Given the description of an element on the screen output the (x, y) to click on. 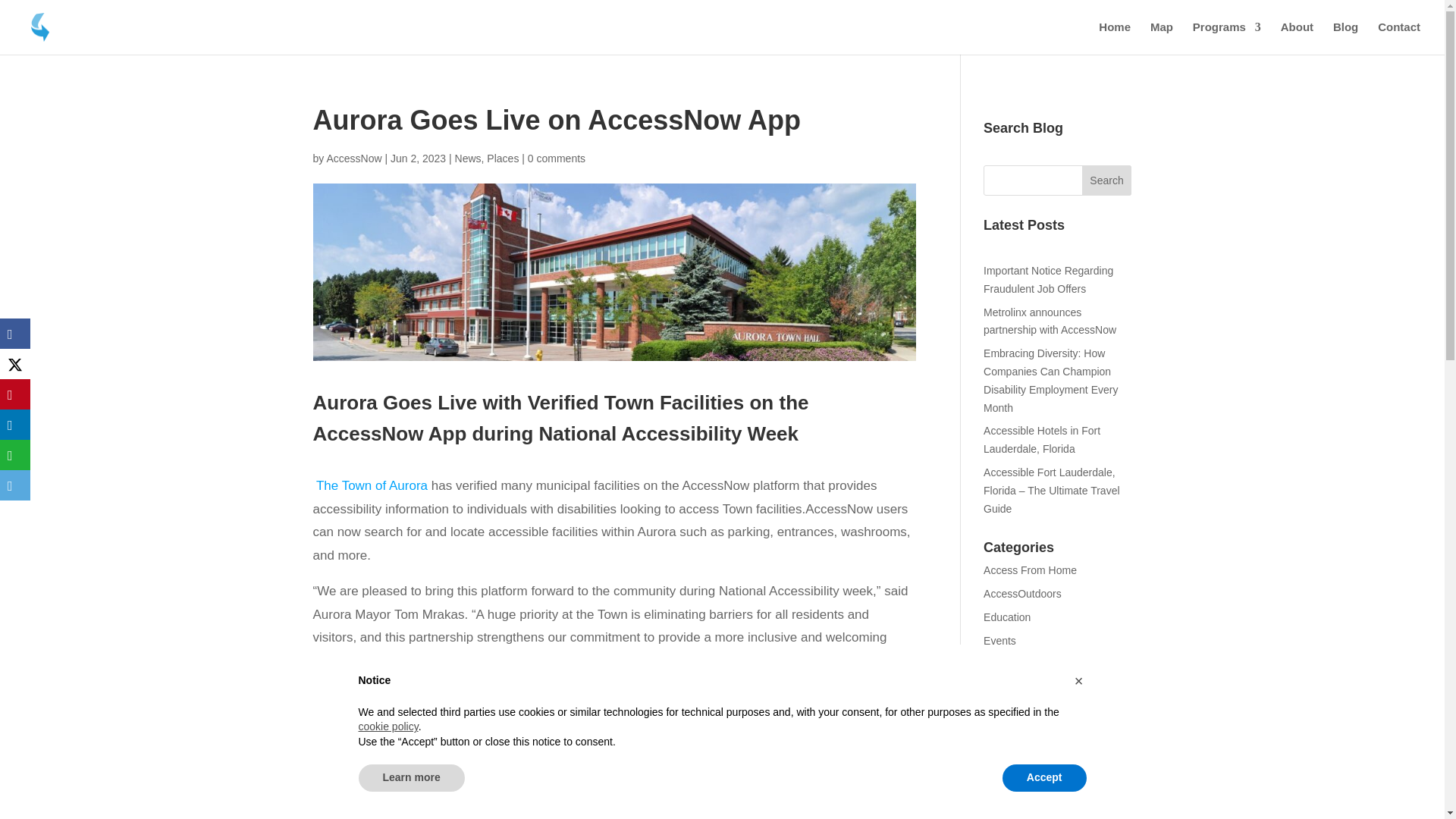
Programs (1226, 38)
Important Notice Regarding Fraudulent Job Offers (1048, 279)
Events (1000, 640)
Contact (1399, 38)
0 comments (556, 158)
Accessible Hotels in Fort Lauderdale, Florida (1042, 440)
Guest Blog (1009, 664)
Search (1106, 180)
Posts by AccessNow (353, 158)
The Town of Aurora (371, 485)
Access From Home (1030, 570)
Home (1115, 38)
About (1297, 38)
Places (502, 158)
Search (1106, 180)
